Given the description of an element on the screen output the (x, y) to click on. 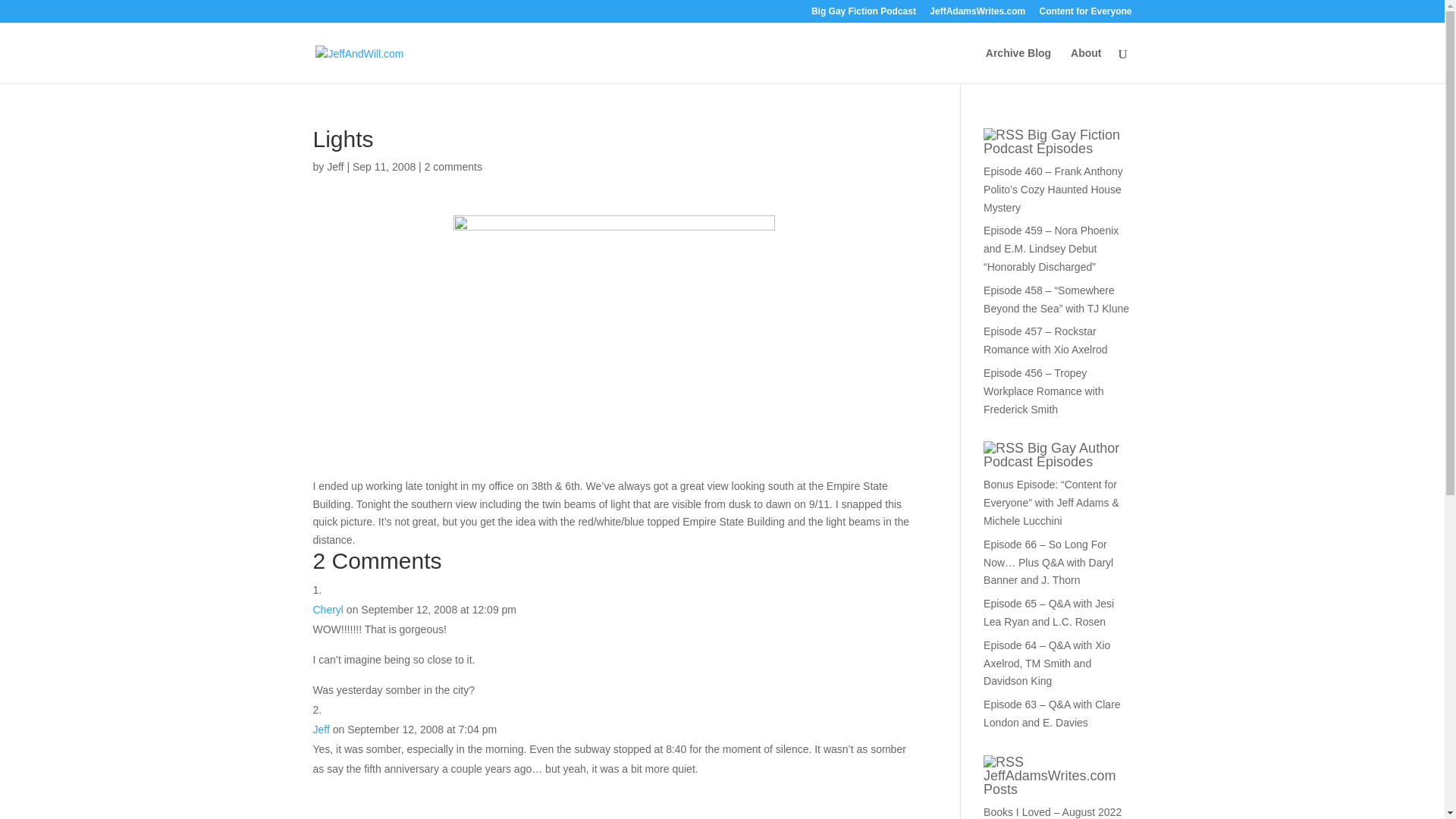
2 comments (453, 166)
Posts by Jeff (334, 166)
Content for Everyone (1085, 14)
JeffAdamsWrites.com Posts (1049, 782)
Big Gay Fiction Podcast (862, 14)
Cheryl (327, 609)
Archive Blog (1018, 65)
Big Gay Fiction Podcast Episodes (1051, 141)
Jeff (334, 166)
empirelights (613, 335)
